Given the description of an element on the screen output the (x, y) to click on. 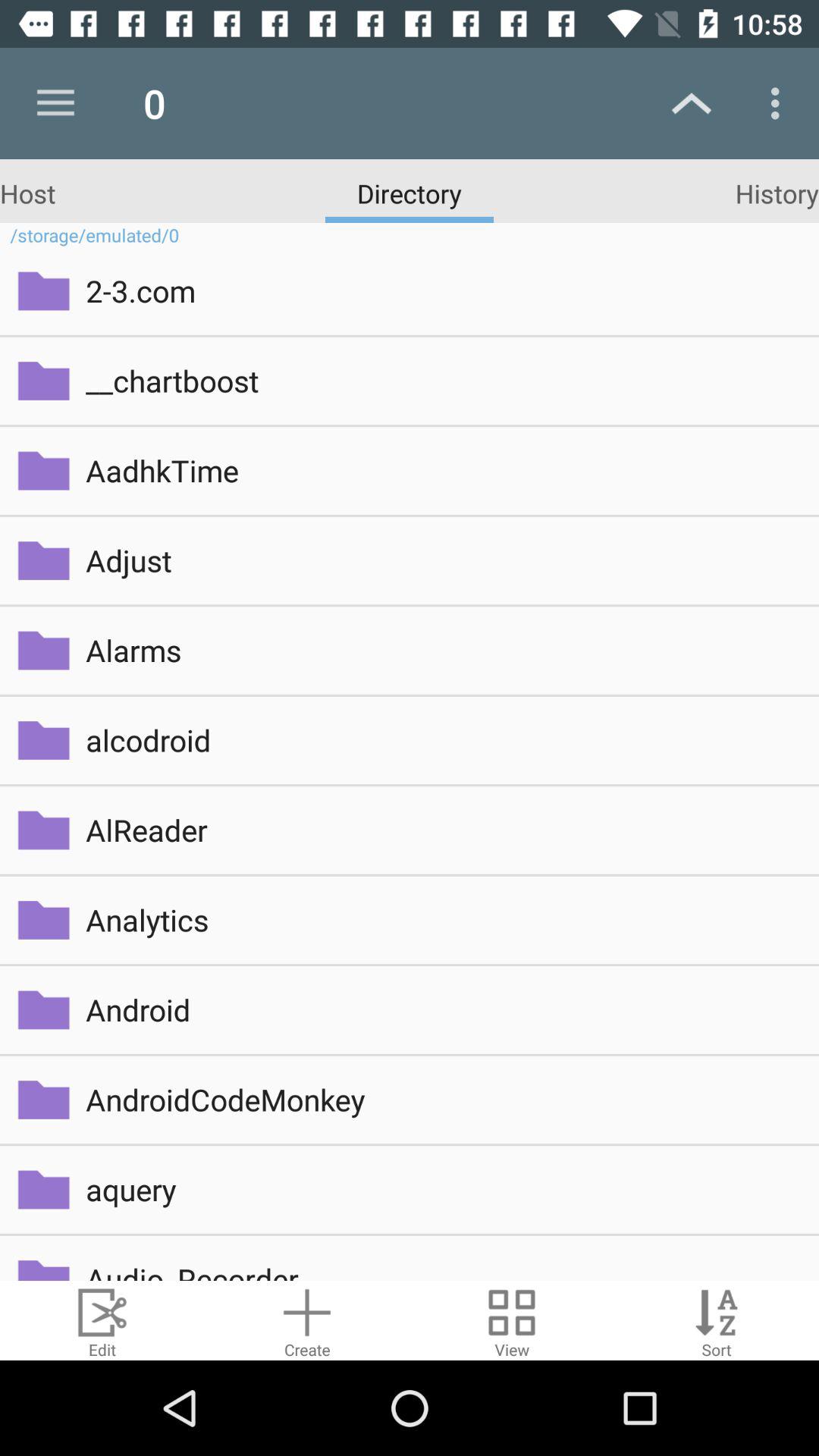
select alreader item (441, 829)
